Given the description of an element on the screen output the (x, y) to click on. 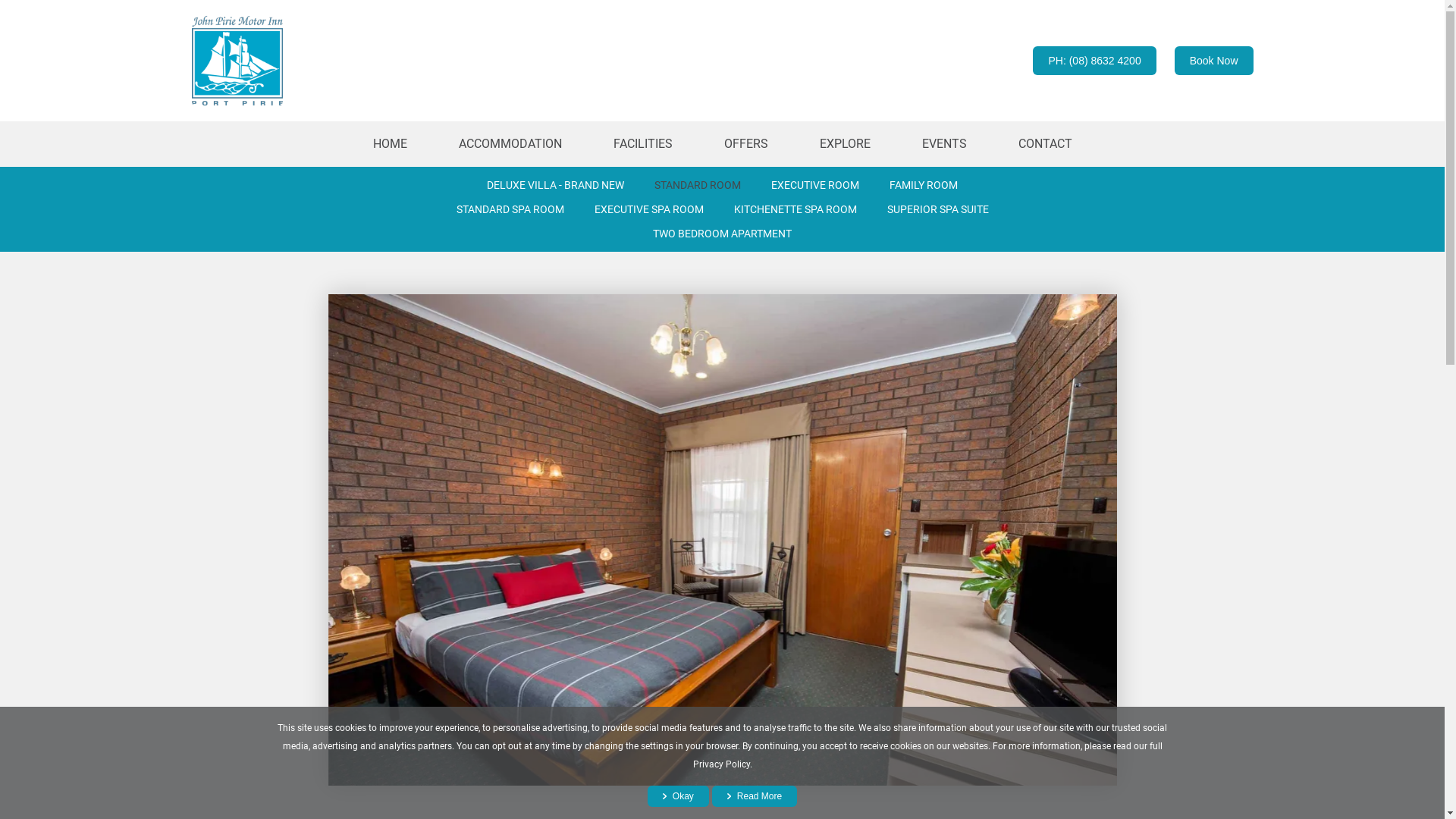
EVENTS Element type: text (944, 143)
Read More Element type: text (754, 795)
OFFERS Element type: text (745, 143)
DELUXE VILLA - BRAND NEW Element type: text (555, 184)
Okay Element type: text (678, 795)
KITCHENETTE SPA ROOM Element type: text (795, 209)
FAMILY ROOM Element type: text (923, 184)
SUPERIOR SPA SUITE Element type: text (937, 209)
FACILITIES Element type: text (641, 143)
HOME Element type: text (390, 143)
STANDARD SPA ROOM Element type: text (510, 209)
PH: (08) 8632 4200 Element type: text (1093, 60)
EXECUTIVE SPA ROOM Element type: text (648, 209)
EXPLORE Element type: text (844, 143)
TWO BEDROOM APARTMENT Element type: text (721, 233)
EXECUTIVE ROOM Element type: text (815, 184)
STANDARD ROOM Element type: text (697, 184)
ACCOMMODATION Element type: text (509, 143)
CONTACT Element type: text (1044, 143)
Book Now Element type: text (1213, 60)
